Given the description of an element on the screen output the (x, y) to click on. 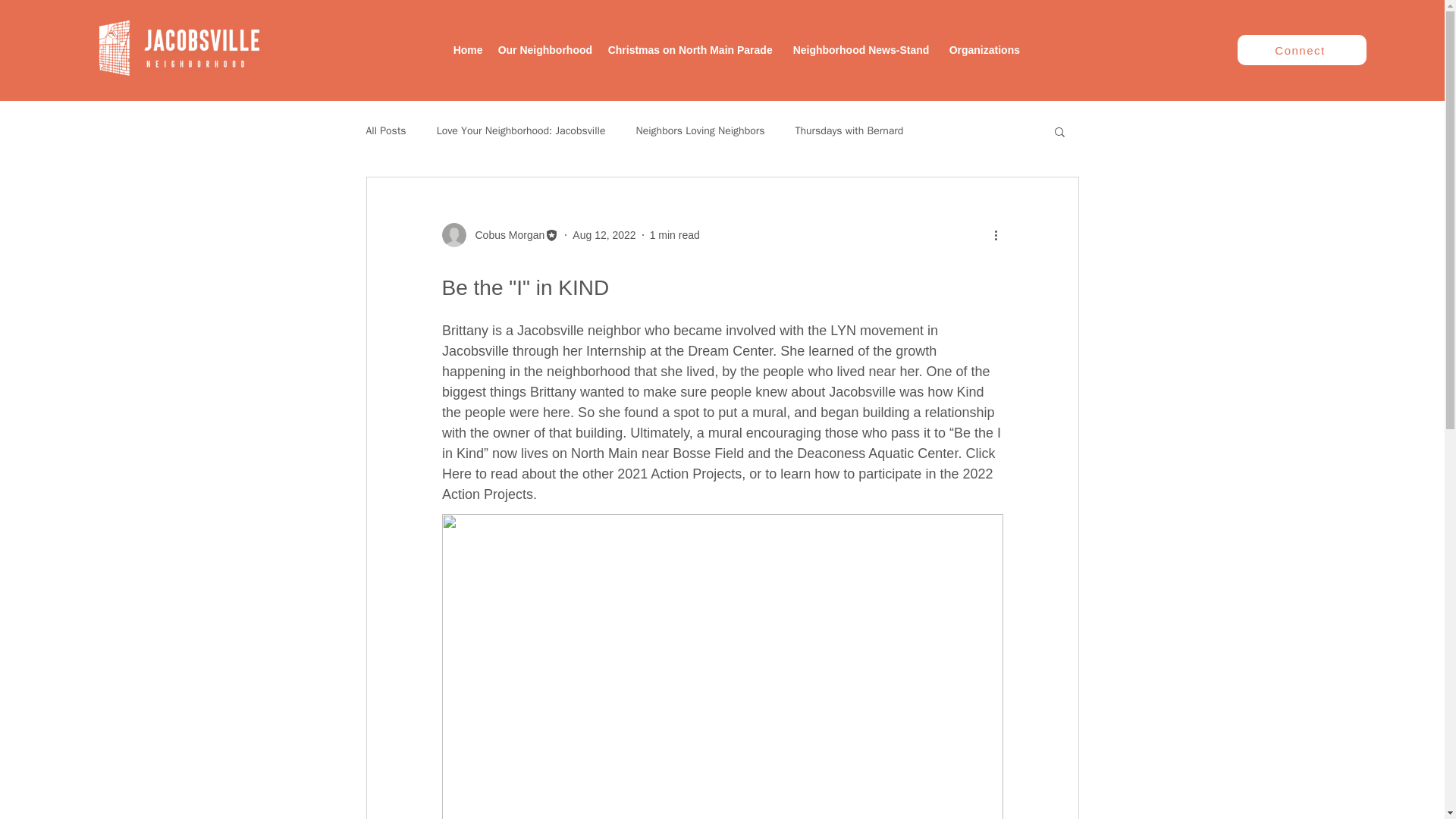
Home (467, 49)
Cobus Morgan (500, 234)
Connect (1302, 50)
Love Your Neighborhood: Jacobsville (520, 131)
Neighbors Loving Neighbors (699, 131)
Thursdays with Bernard (848, 131)
All Posts (385, 131)
Cobus Morgan (504, 235)
Neighborhood News-Stand (864, 49)
Aug 12, 2022 (603, 234)
Organizations (984, 49)
1 min read (674, 234)
Christmas on North Main Parade (692, 49)
